Given the description of an element on the screen output the (x, y) to click on. 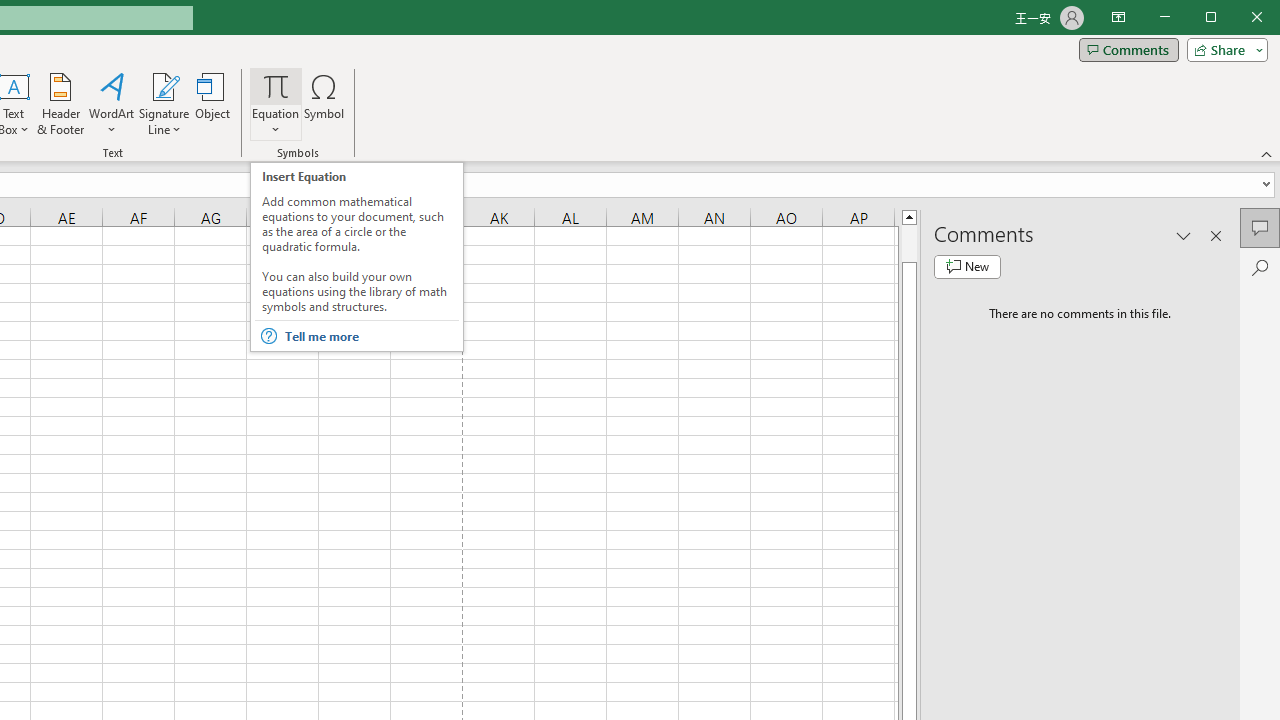
WordArt (111, 104)
Header & Footer... (60, 104)
Maximize (1239, 18)
Object... (213, 104)
Class: NetUIImage (268, 336)
New comment (967, 266)
